Given the description of an element on the screen output the (x, y) to click on. 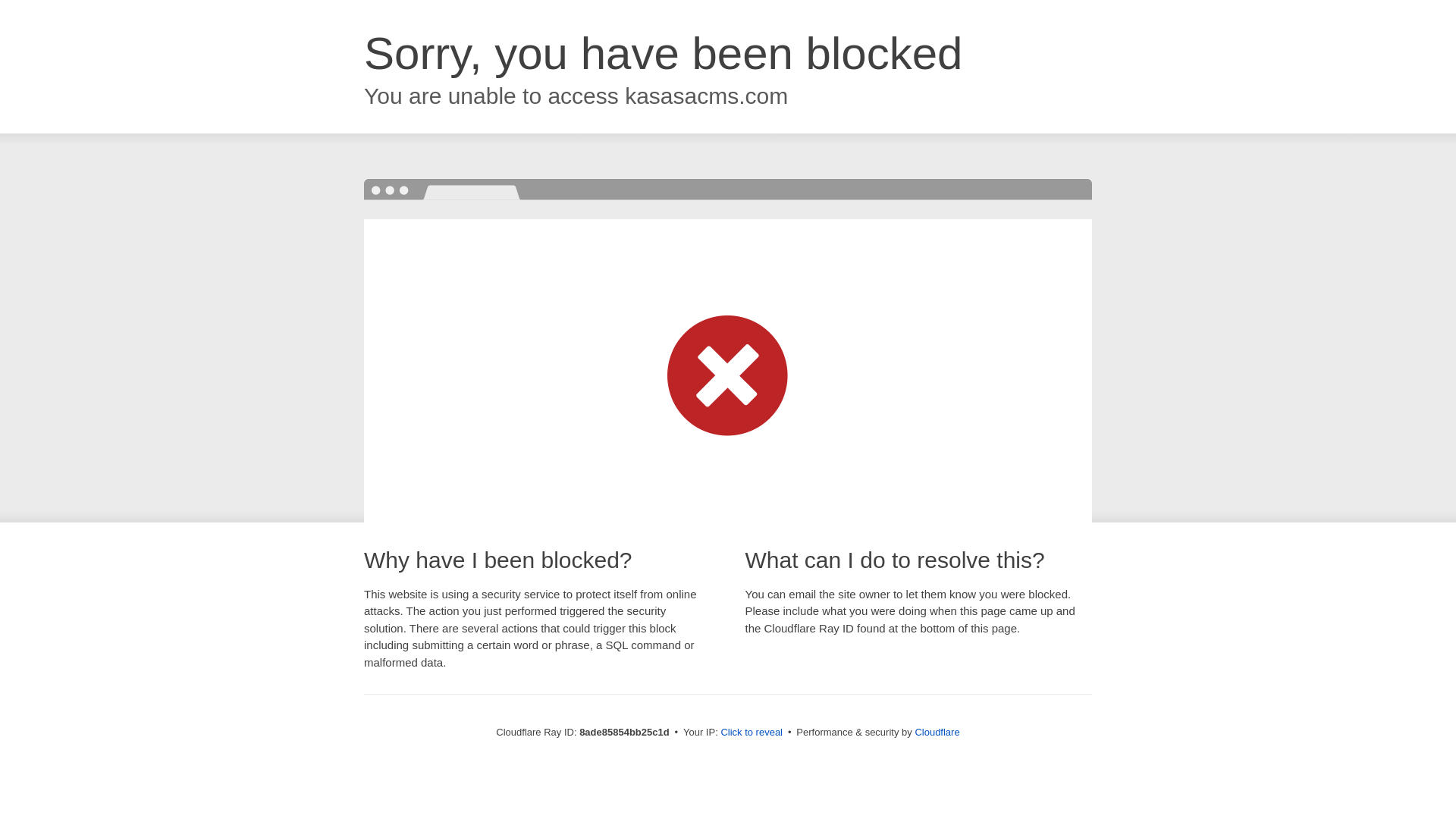
Click to reveal (751, 732)
Cloudflare (936, 731)
